Given the description of an element on the screen output the (x, y) to click on. 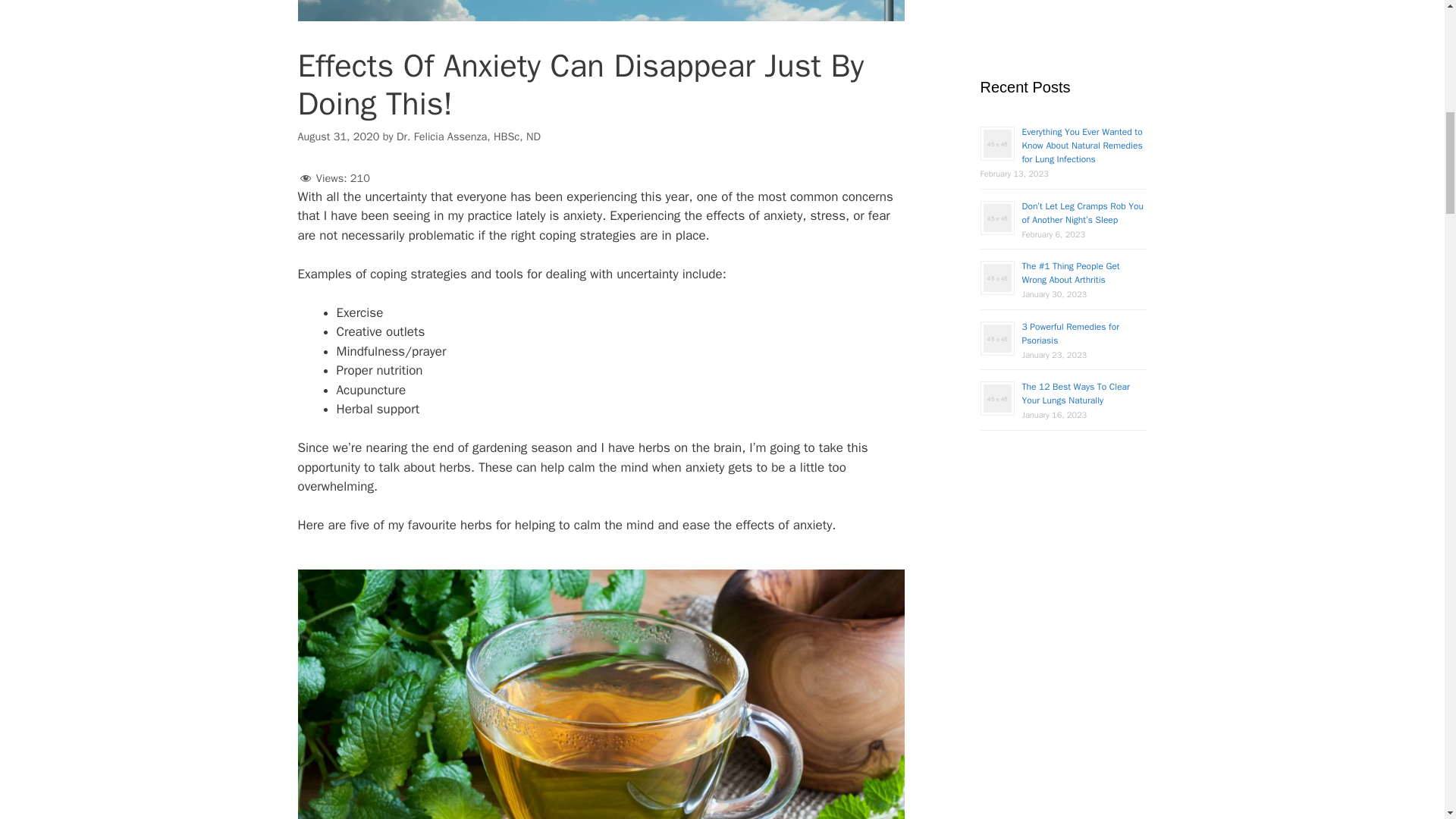
View all posts by Dr. Felicia Assenza, HBSc, ND (468, 135)
Dr. Felicia Assenza, HBSc, ND (468, 135)
Scroll back to top (1406, 720)
